Given the description of an element on the screen output the (x, y) to click on. 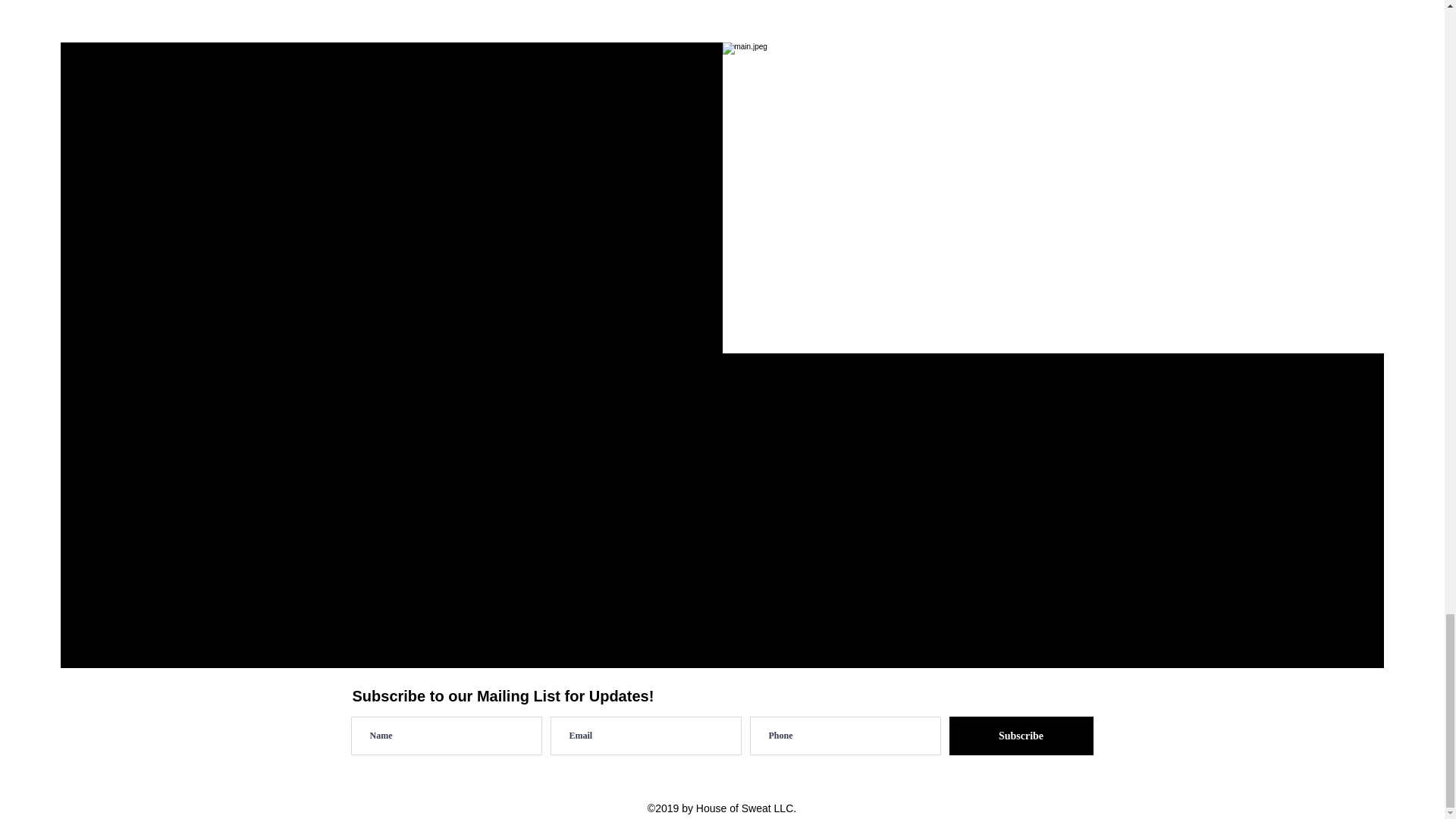
Subscribe (1021, 735)
